Given the description of an element on the screen output the (x, y) to click on. 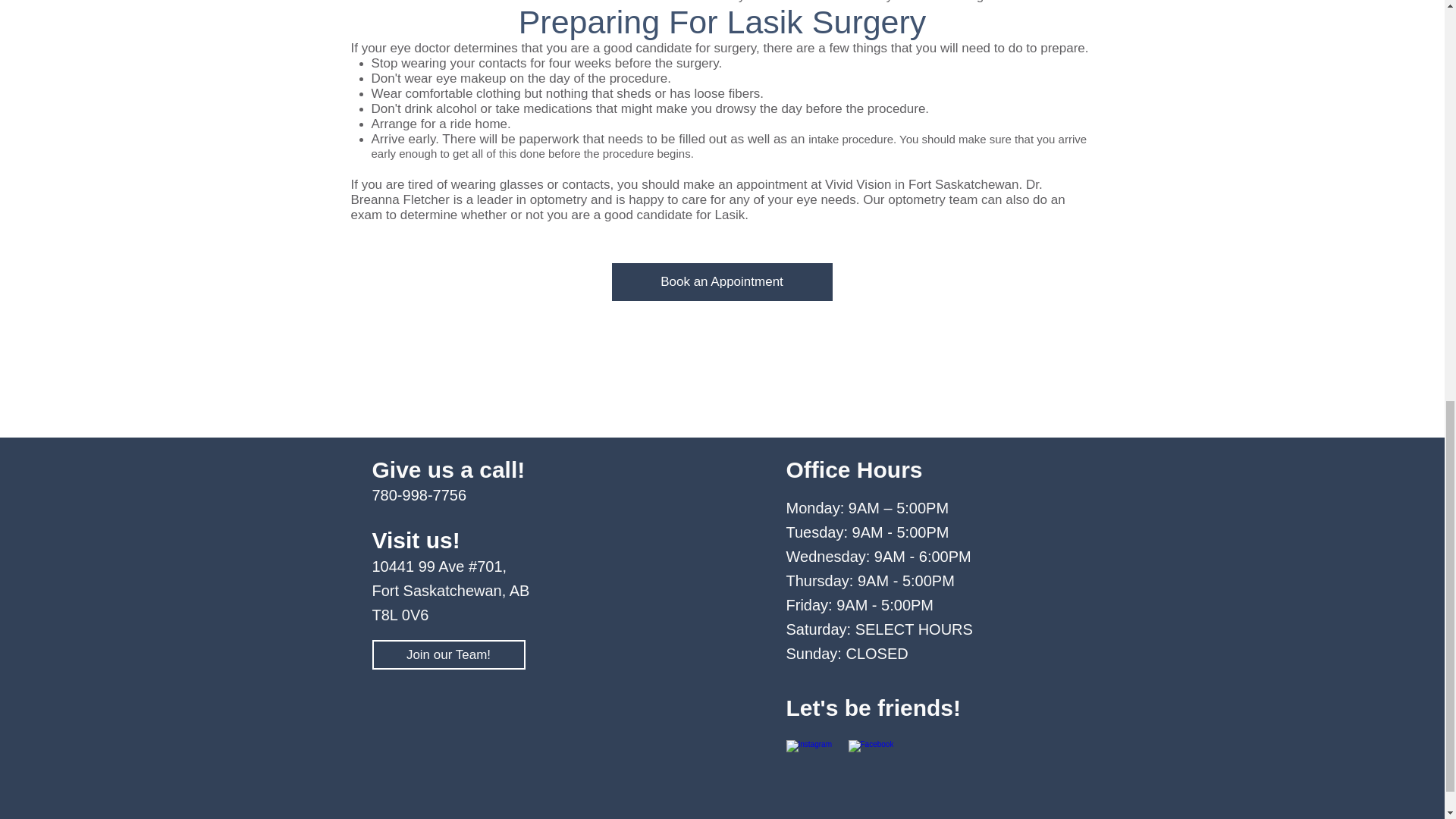
Join our Team! (447, 654)
780-998-7756 (418, 494)
Book an Appointment (721, 281)
